Given the description of an element on the screen output the (x, y) to click on. 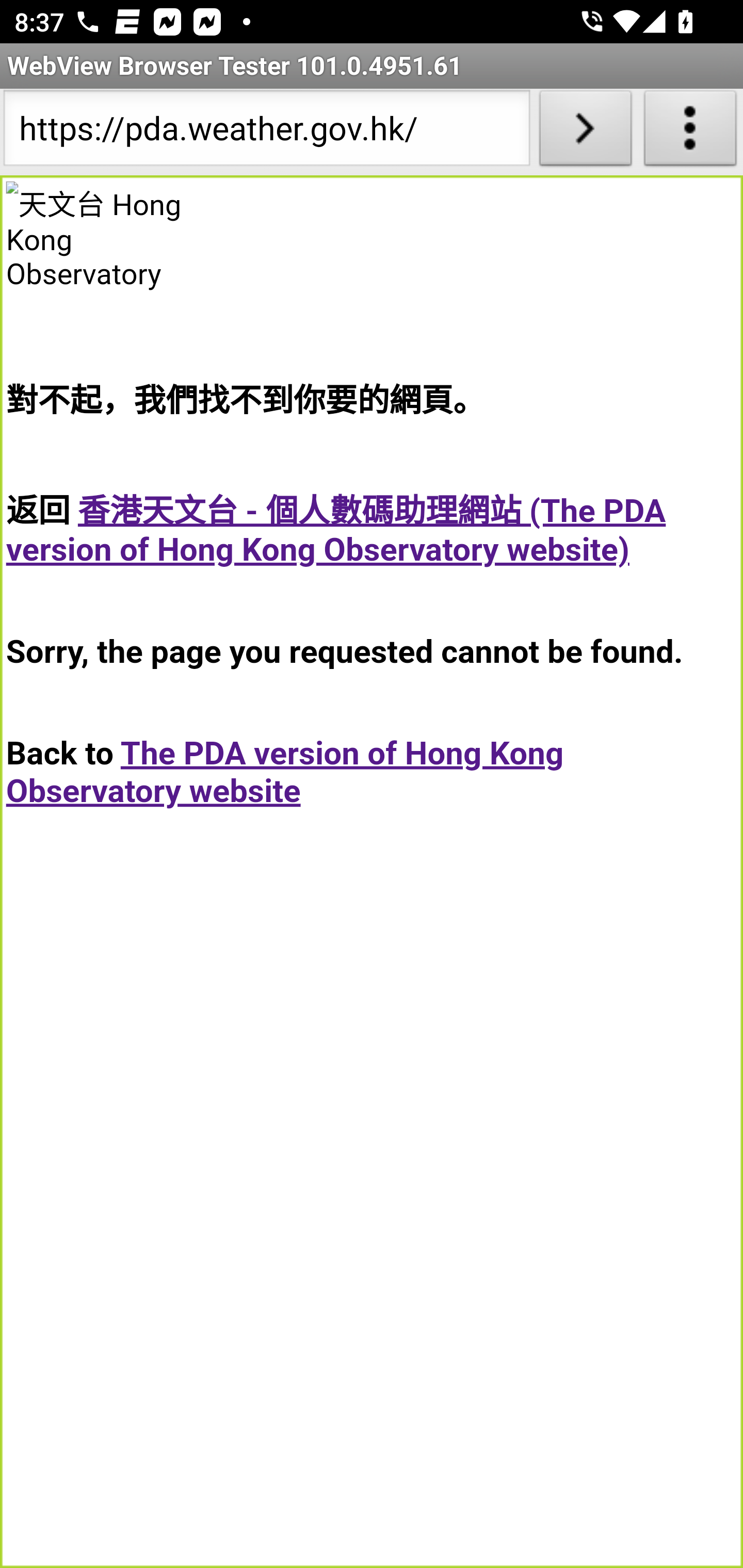
https://pda.weather.gov.hk/ (266, 132)
Load URL (585, 132)
About WebView (690, 132)
The PDA version of Hong Kong Observatory website (284, 771)
